Given the description of an element on the screen output the (x, y) to click on. 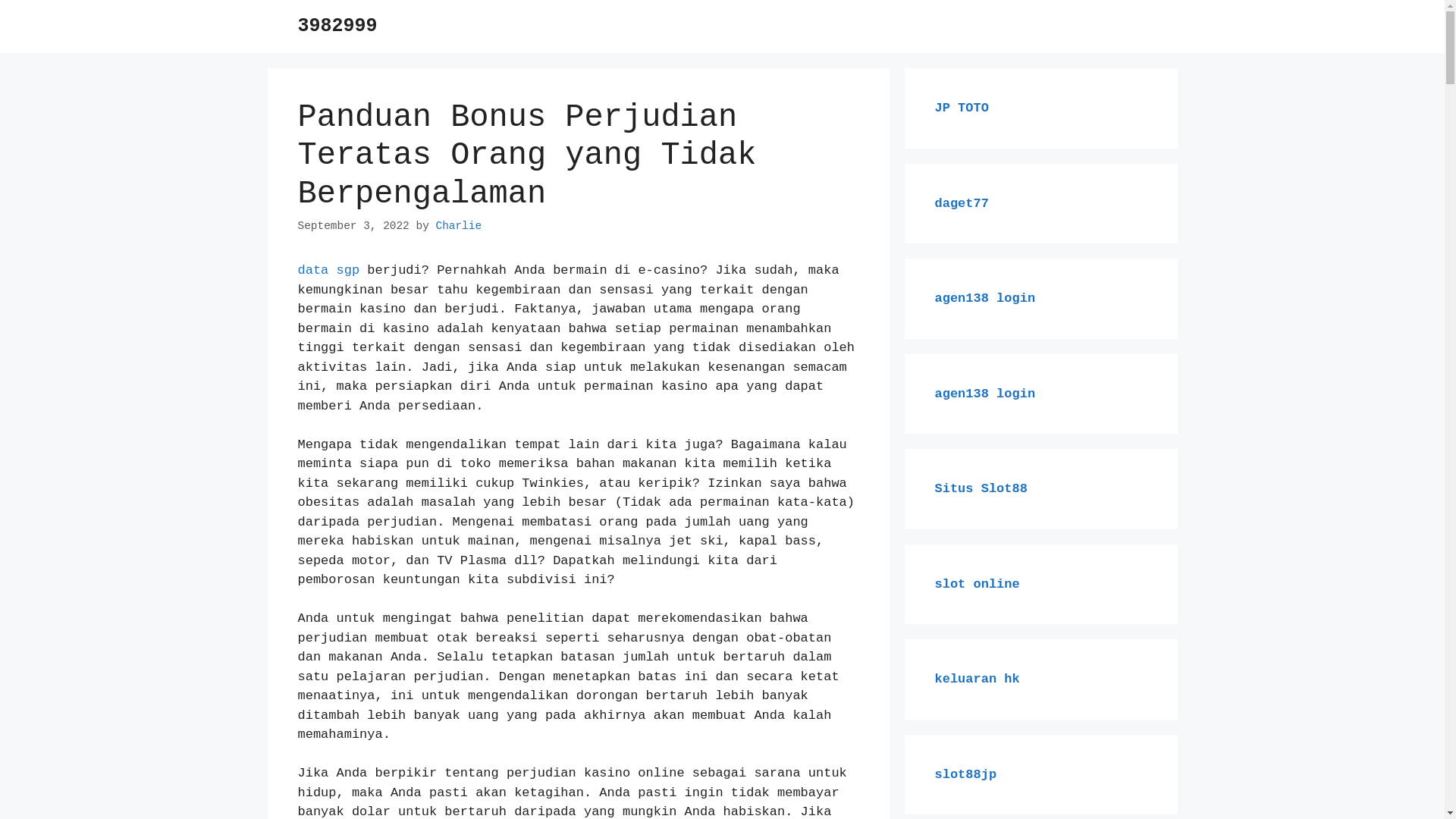
slot88jp Element type: text (965, 774)
agen138 login Element type: text (984, 393)
data sgp Element type: text (328, 270)
JP TOTO Element type: text (961, 107)
daget77 Element type: text (961, 202)
Charlie Element type: text (458, 225)
agen138 login Element type: text (984, 298)
keluaran hk Element type: text (976, 678)
Situs Slot88 Element type: text (980, 488)
3982999 Element type: text (336, 26)
slot online Element type: text (976, 583)
